Given the description of an element on the screen output the (x, y) to click on. 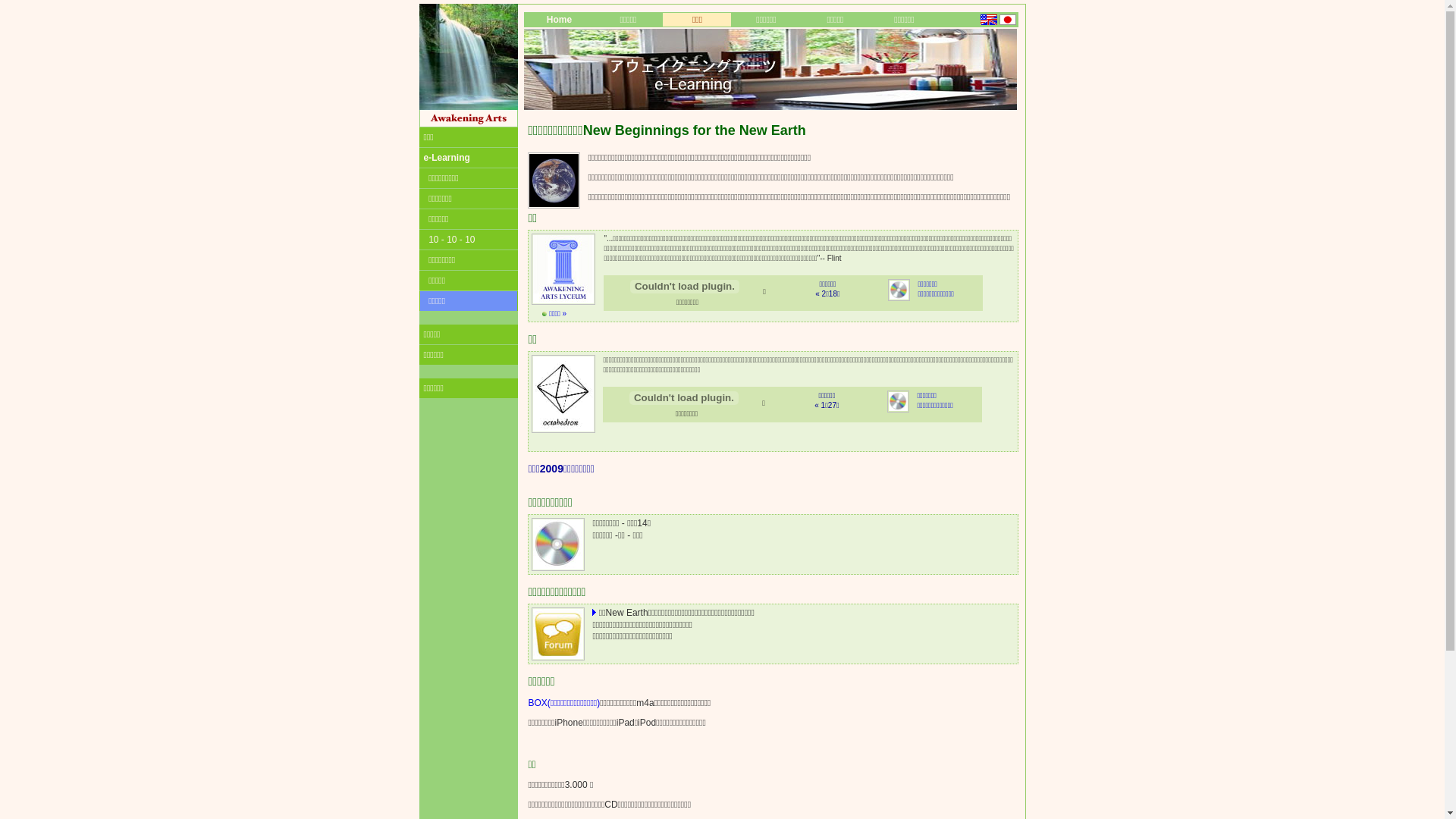
e-Learning Element type: text (467, 157)
  10 - 10 - 10 Element type: text (467, 239)
Home Element type: text (558, 19)
